Given the description of an element on the screen output the (x, y) to click on. 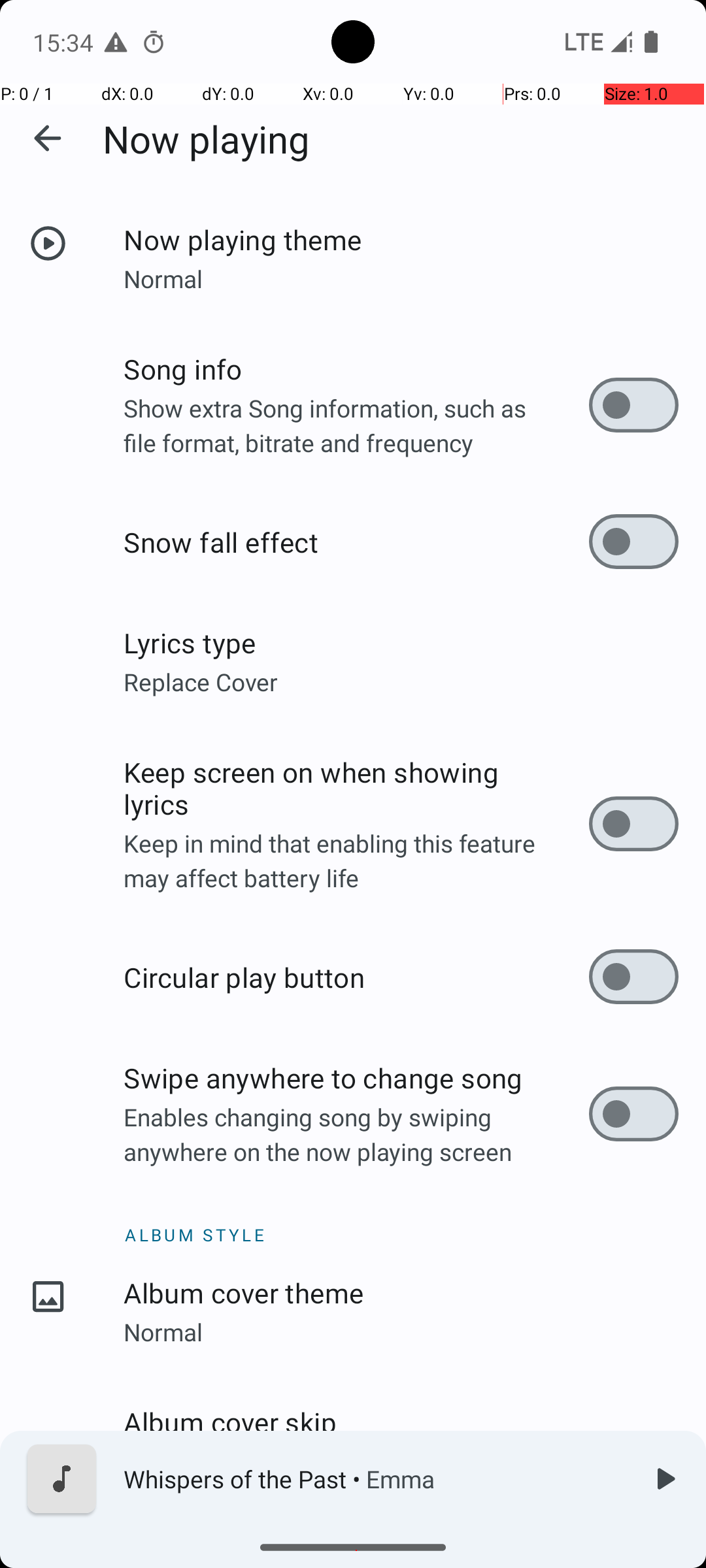
Now playing Element type: android.widget.TextView (205, 138)
Whispers of the Past • Emma Element type: android.widget.TextView (372, 1478)
Now playing theme Element type: android.widget.TextView (400, 239)
Normal Element type: android.widget.TextView (400, 278)
Song info Element type: android.widget.TextView (355, 368)
Show extra Song information, such as file format, bitrate and frequency Element type: android.widget.TextView (355, 424)
Snow fall effect Element type: android.widget.TextView (355, 541)
Lyrics type Element type: android.widget.TextView (400, 642)
Replace Cover Element type: android.widget.TextView (400, 681)
Keep screen on when showing lyrics Element type: android.widget.TextView (355, 787)
Keep in mind that enabling this feature may affect battery life Element type: android.widget.TextView (355, 859)
Circular play button Element type: android.widget.TextView (355, 976)
Swipe anywhere to change song Element type: android.widget.TextView (355, 1077)
Enables changing song by swiping anywhere on the now playing screen Element type: android.widget.TextView (355, 1133)
ALBUM STYLE Element type: android.widget.TextView (353, 1220)
Album cover theme Element type: android.widget.TextView (400, 1292)
Album cover skip Element type: android.widget.TextView (400, 1421)
Carousel effect Element type: android.widget.TextView (355, 1550)
